Given the description of an element on the screen output the (x, y) to click on. 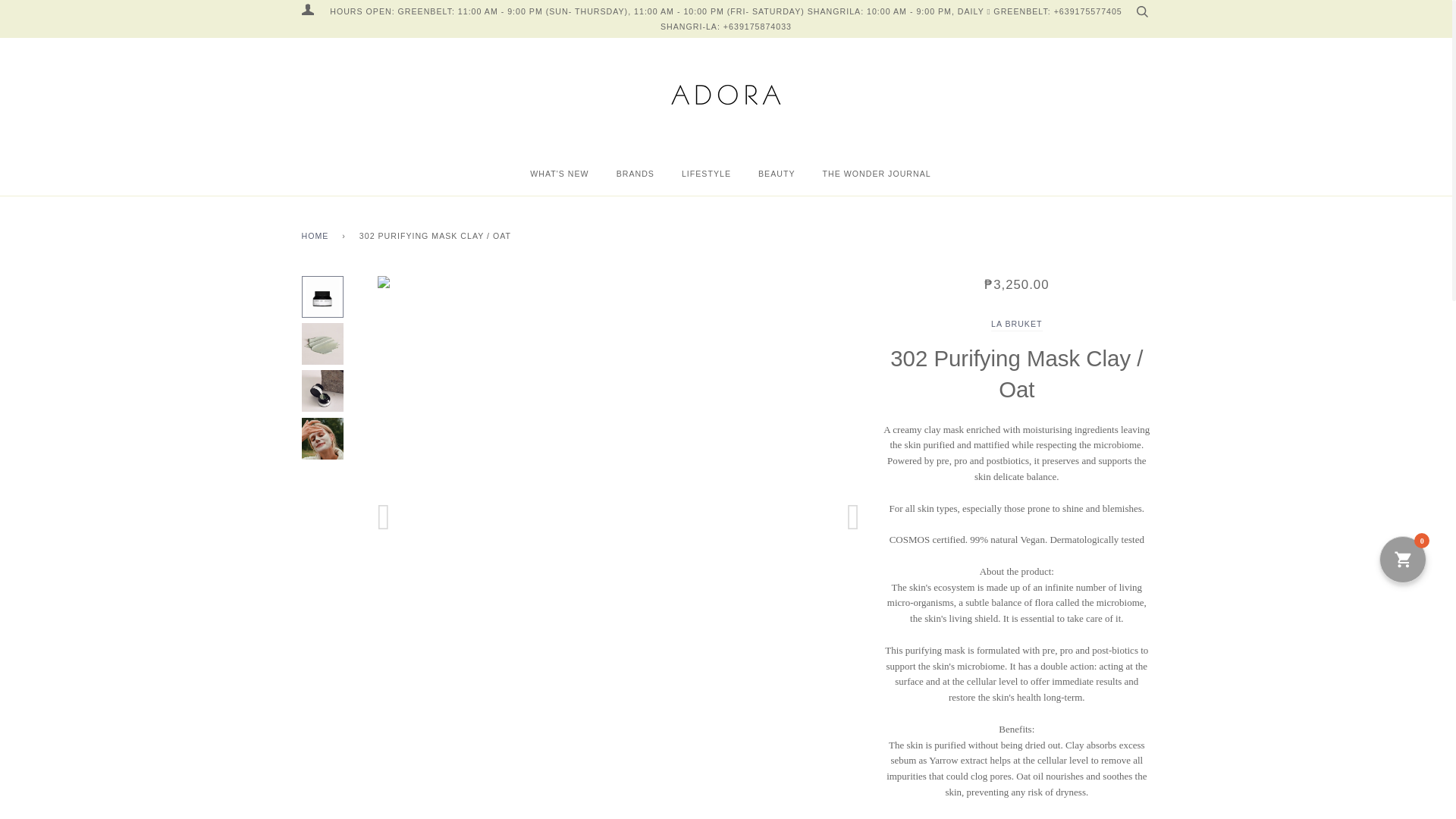
WHAT'S NEW (554, 173)
Search (1140, 11)
LIFESTYLE (694, 173)
BEAUTY (764, 173)
BRANDS (623, 173)
Back to the frontpage (317, 236)
